Given the description of an element on the screen output the (x, y) to click on. 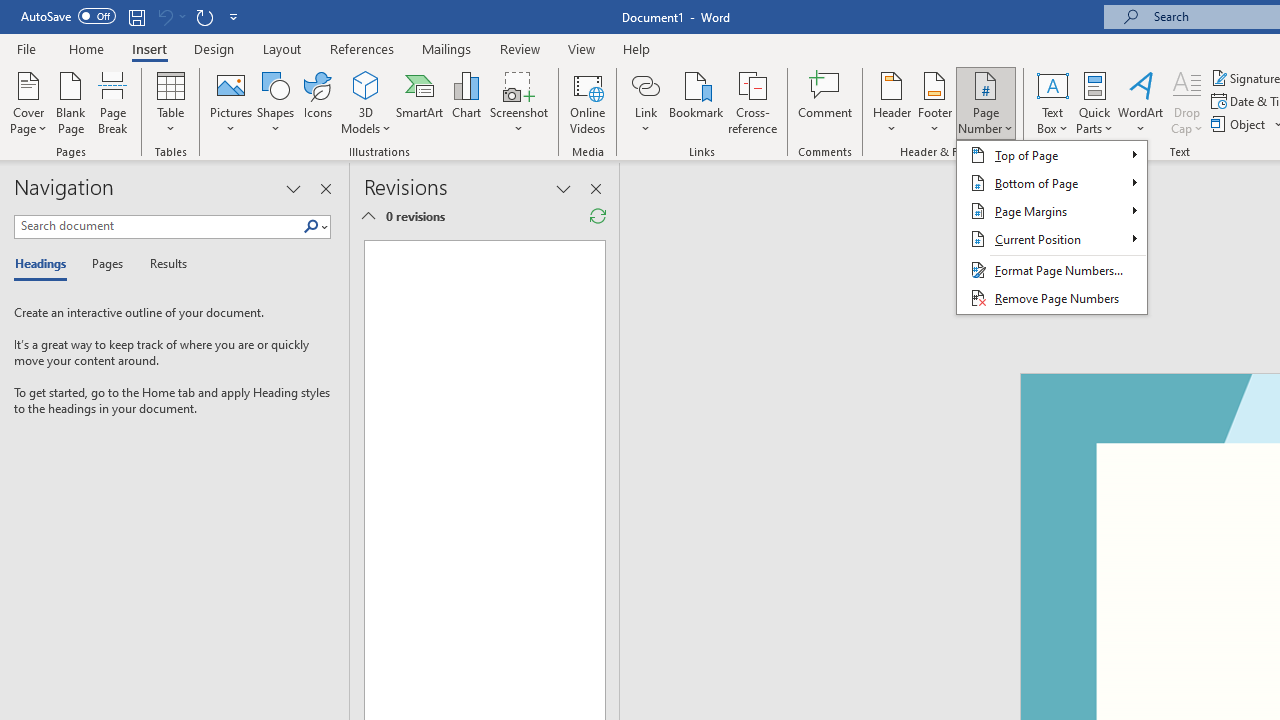
Repeat Doc Close (204, 15)
SmartArt... (419, 102)
Online Videos... (588, 102)
Blank Page (70, 102)
